Given the description of an element on the screen output the (x, y) to click on. 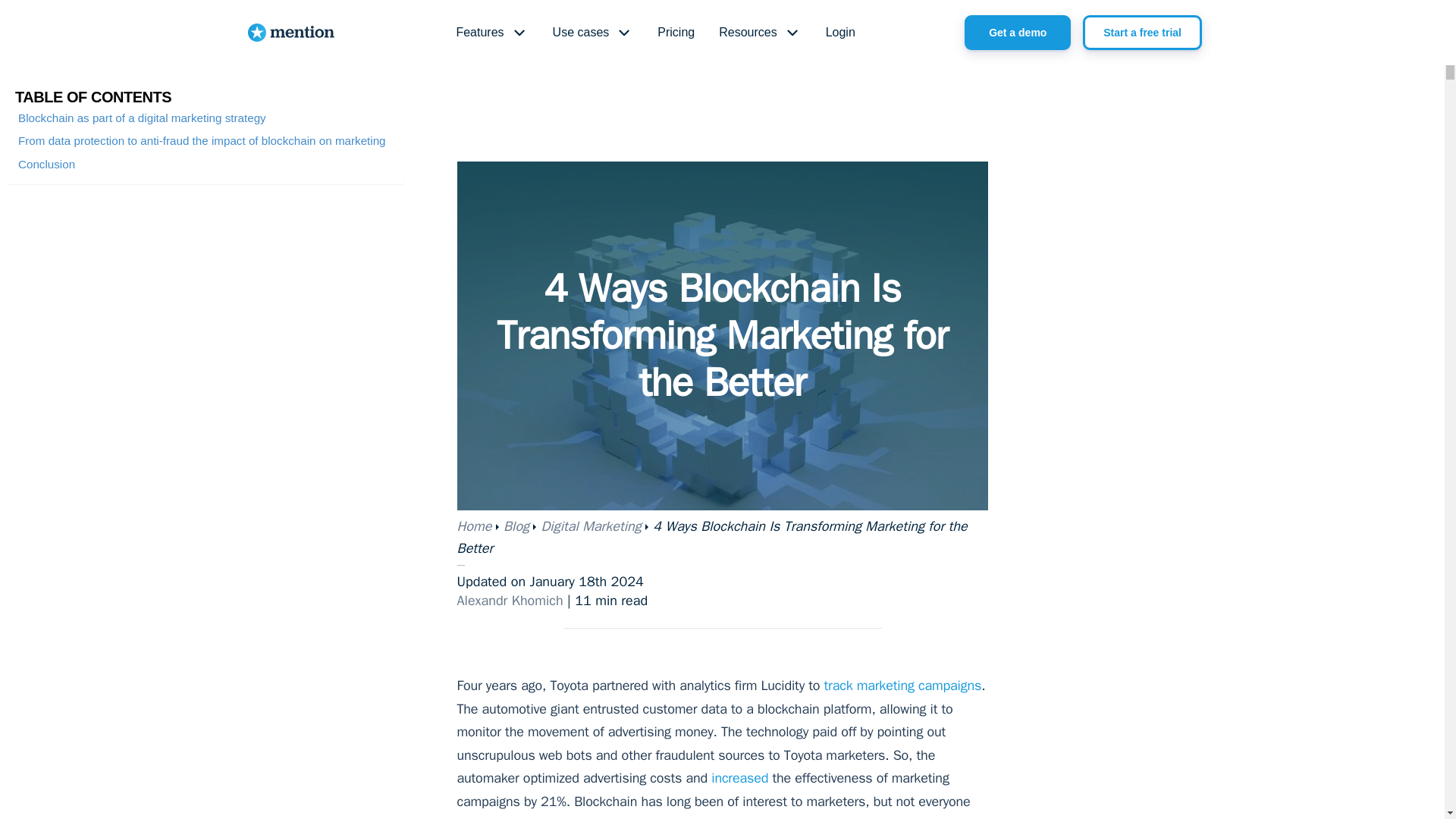
Blockchain as part of a digital marketing strategy (141, 117)
Pricing (675, 33)
Conclusion (46, 164)
